Given the description of an element on the screen output the (x, y) to click on. 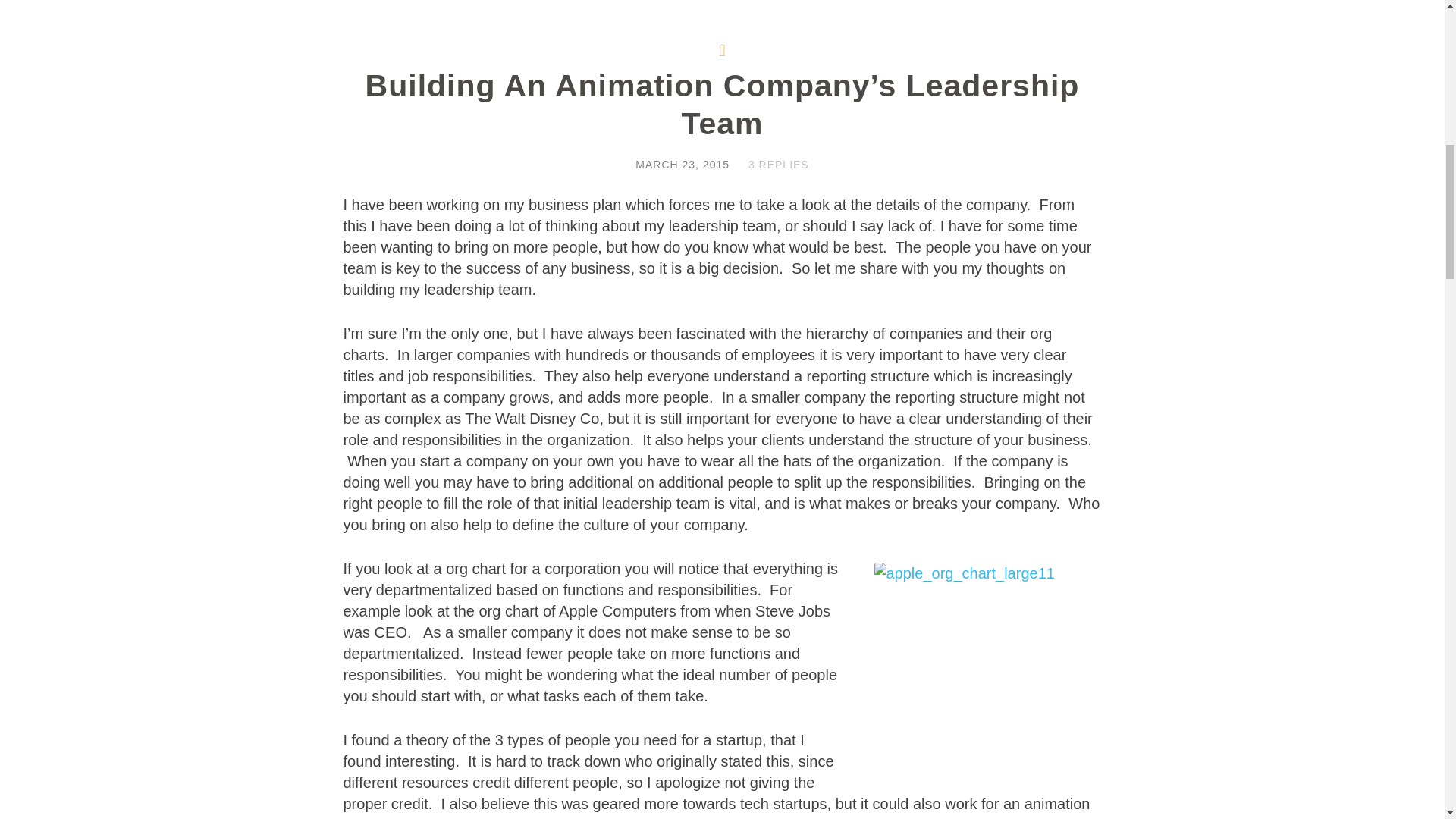
3 REPLIES (778, 164)
